Given the description of an element on the screen output the (x, y) to click on. 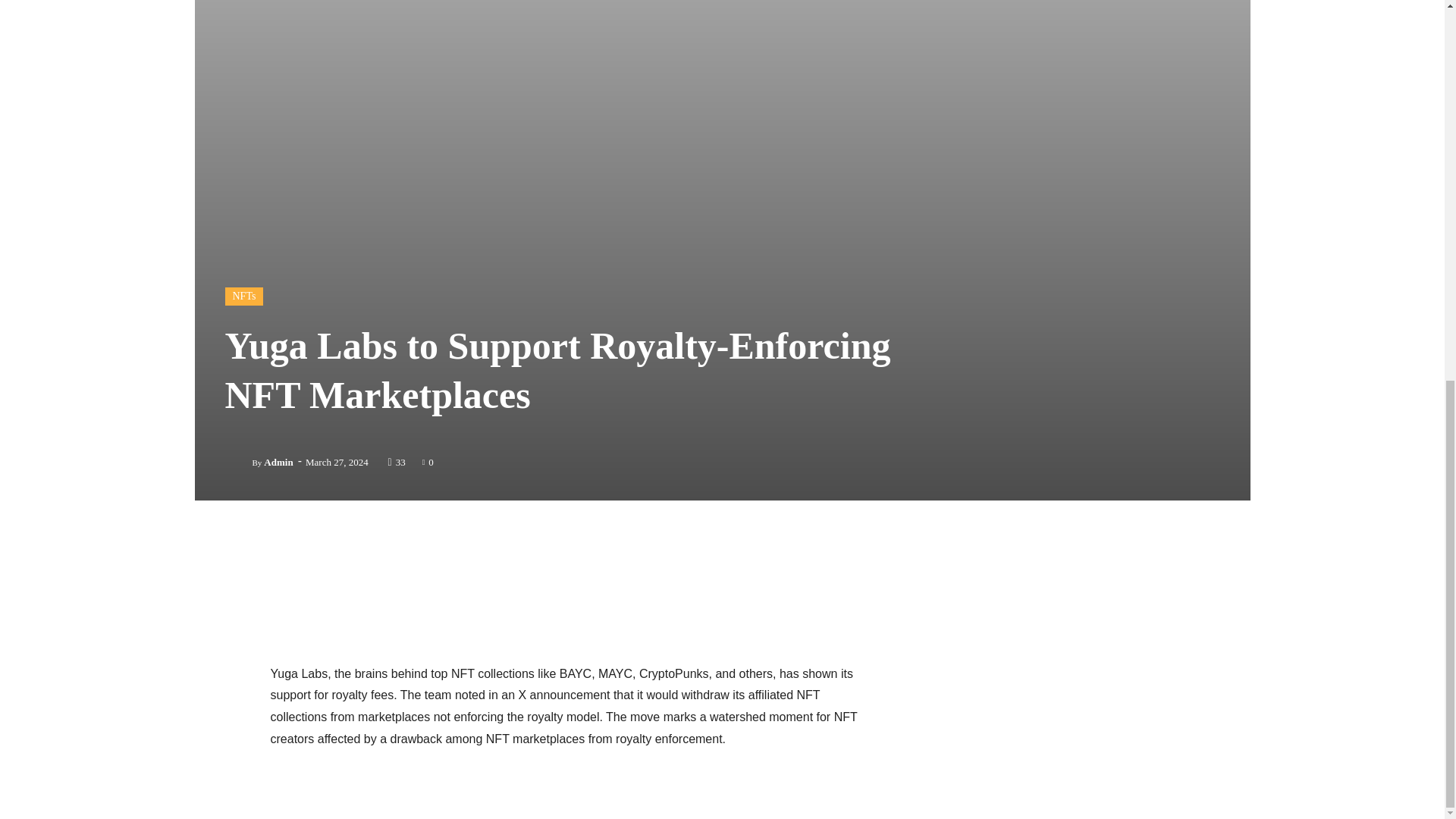
0 (427, 460)
Admin (277, 461)
admin (237, 461)
NFTs (243, 296)
